Given the description of an element on the screen output the (x, y) to click on. 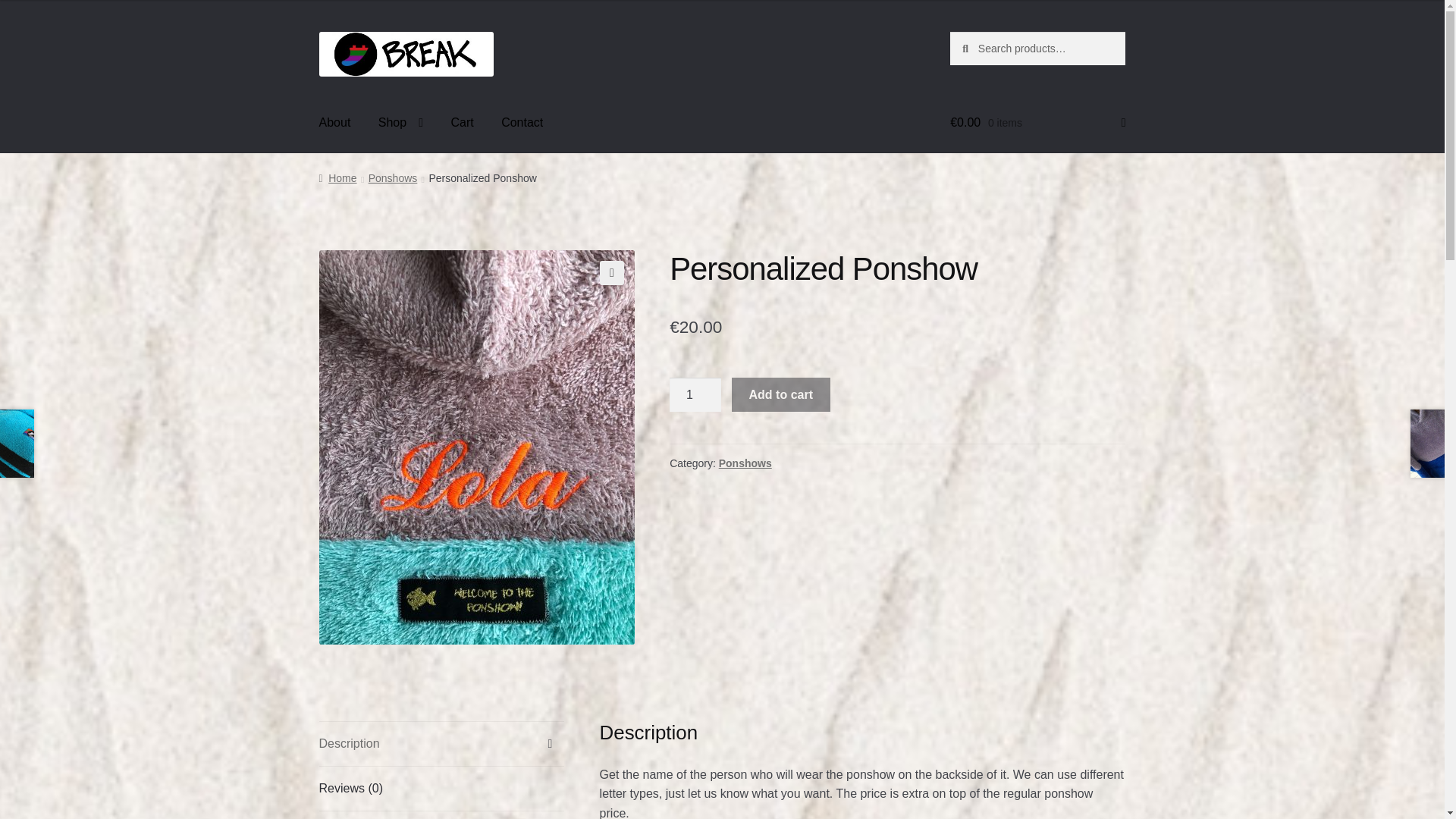
Shop (400, 122)
Ponshows (745, 463)
View your shopping cart (1037, 122)
Add to cart (780, 394)
Contact (521, 122)
About (334, 122)
1 (694, 394)
Home (337, 177)
Ponshows (392, 177)
Description (441, 743)
Qty (694, 394)
